Given the description of an element on the screen output the (x, y) to click on. 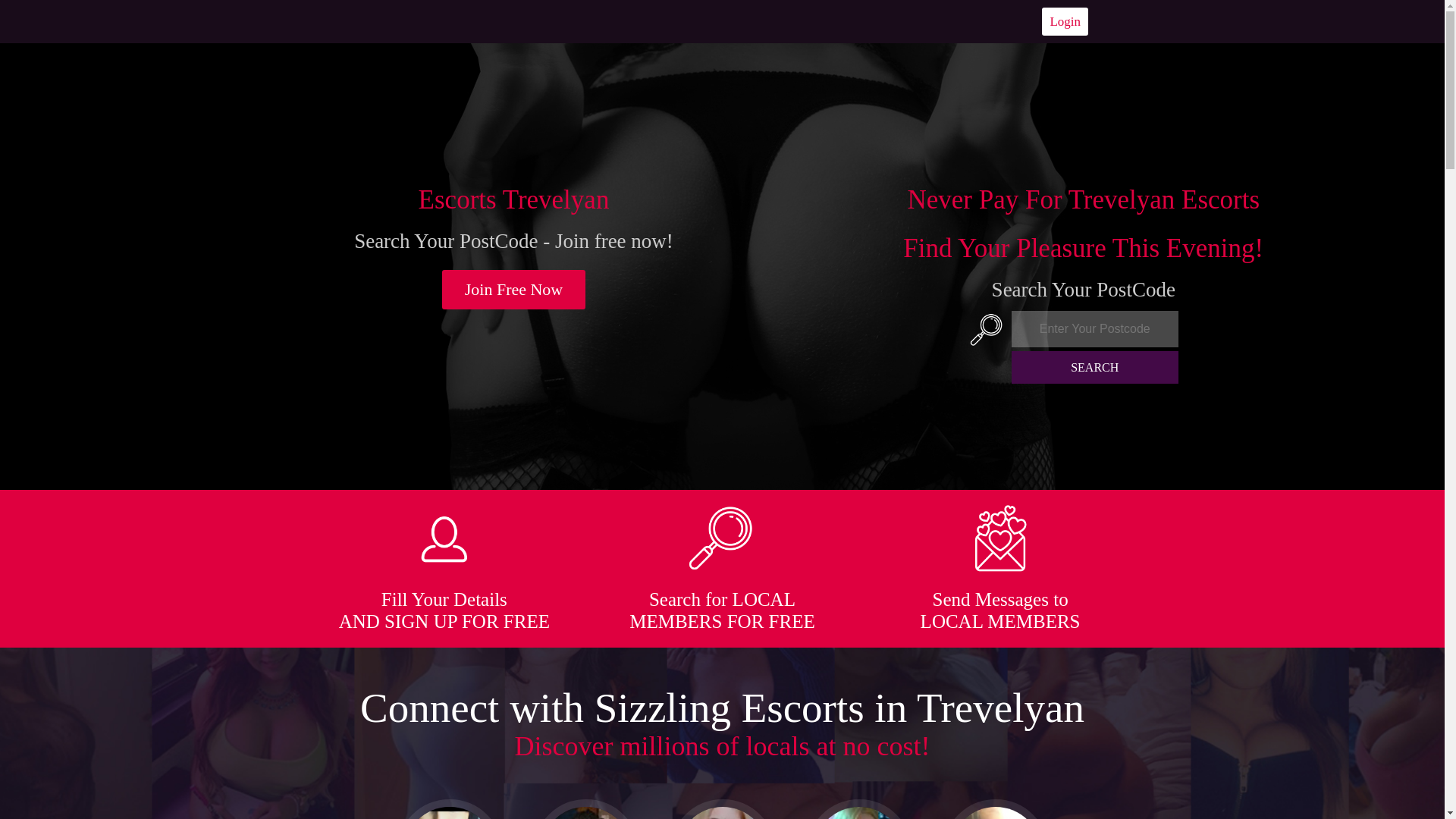
Join (514, 289)
SEARCH (1094, 367)
Login (1064, 21)
Login (1064, 21)
Join Free Now (514, 289)
